Given the description of an element on the screen output the (x, y) to click on. 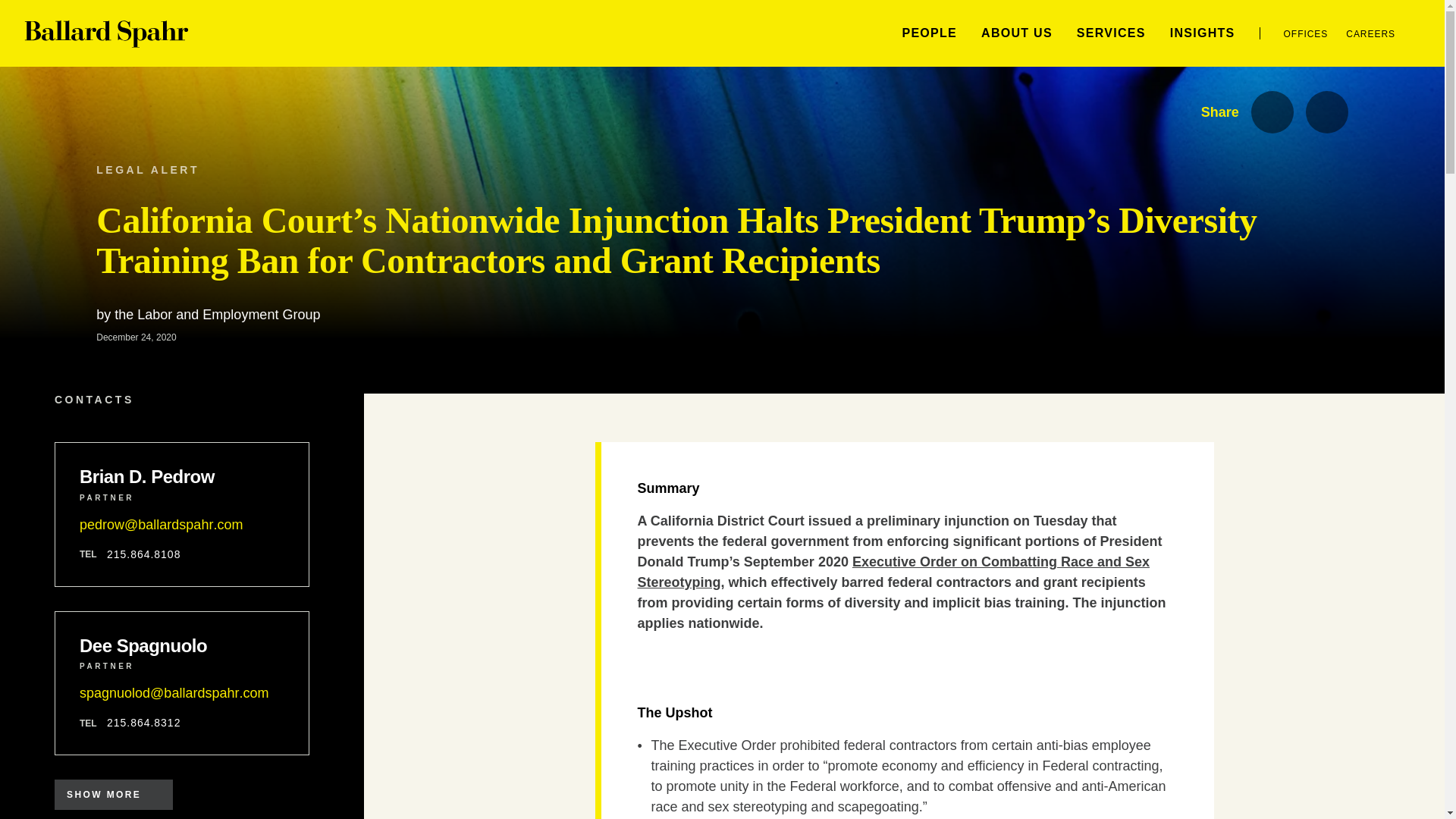
Brian D. Pedrow (181, 476)
Dee Spagnuolo (181, 646)
INSIGHTS (1202, 32)
215.864.8312 (143, 722)
OFFICES (1305, 33)
215.864.8108 (143, 554)
CAREERS (1369, 33)
ABOUT US (1016, 32)
SERVICES (1111, 32)
Executive Order on Combatting Race and Sex Stereotyping (893, 571)
PEOPLE (928, 32)
